Given the description of an element on the screen output the (x, y) to click on. 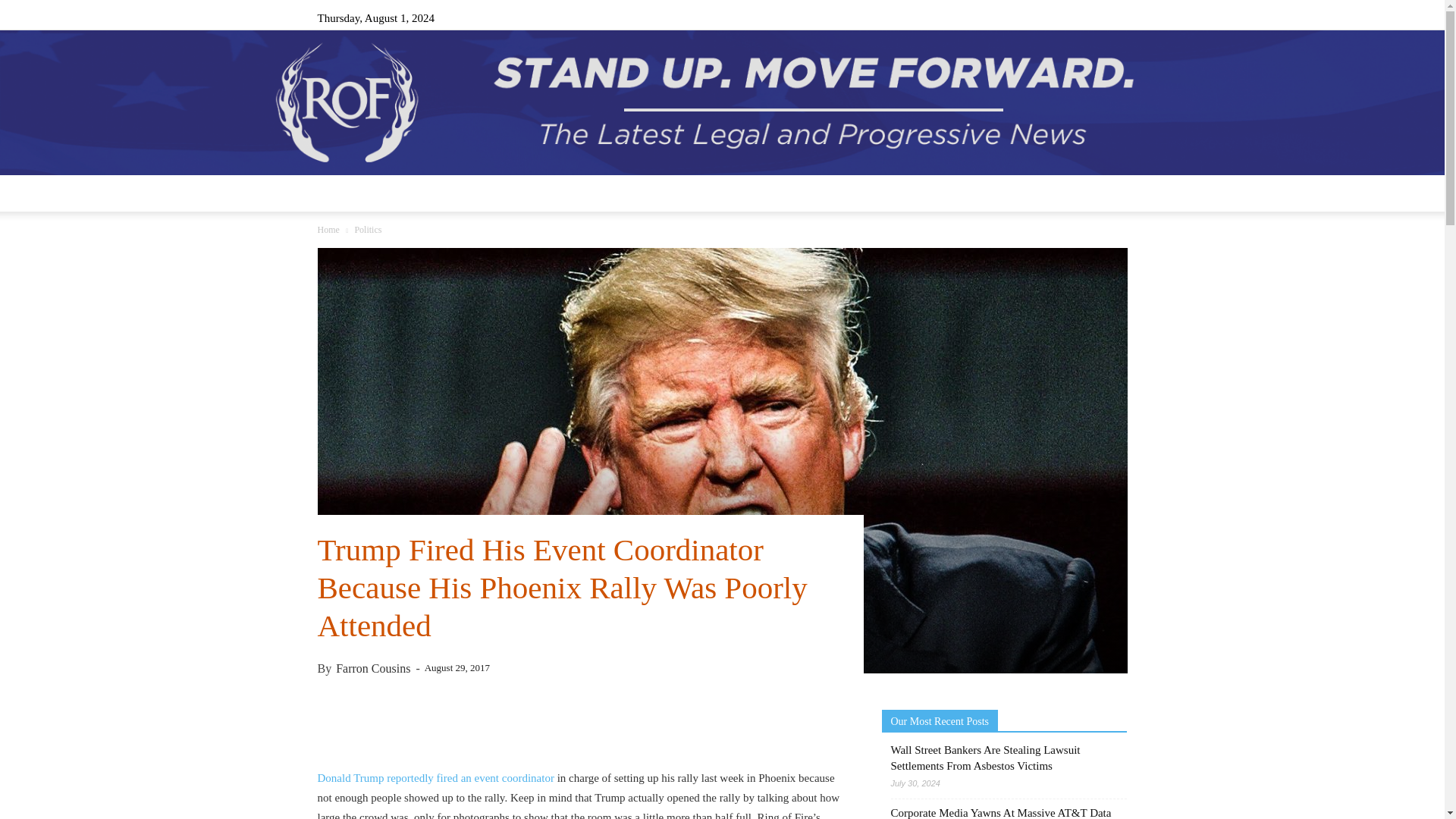
Twitter (1090, 17)
Youtube (1114, 17)
Instagram (1040, 17)
Facebook (1015, 17)
RSS (1065, 17)
